Given the description of an element on the screen output the (x, y) to click on. 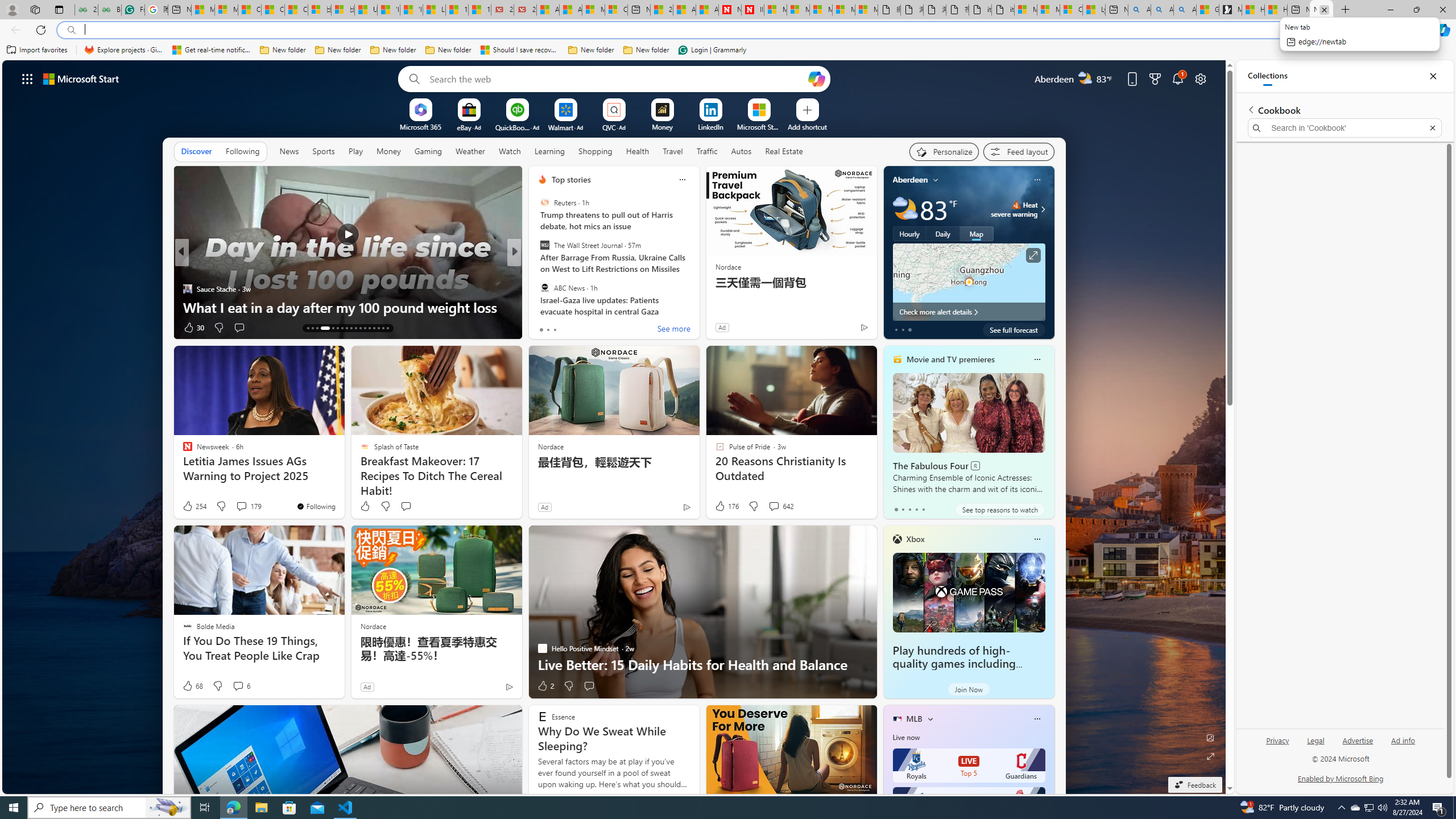
Legal (1315, 740)
Health (637, 151)
Like (364, 505)
View comments 179 Comment (248, 505)
The Wall Street Journal (544, 245)
Class: control (27, 78)
View comments 179 Comment (241, 505)
View comments 25 Comment (597, 327)
AutomationID: tab-17 (332, 328)
Royals LIVE Top 5 Guardians (968, 765)
Money (387, 151)
